Given the description of an element on the screen output the (x, y) to click on. 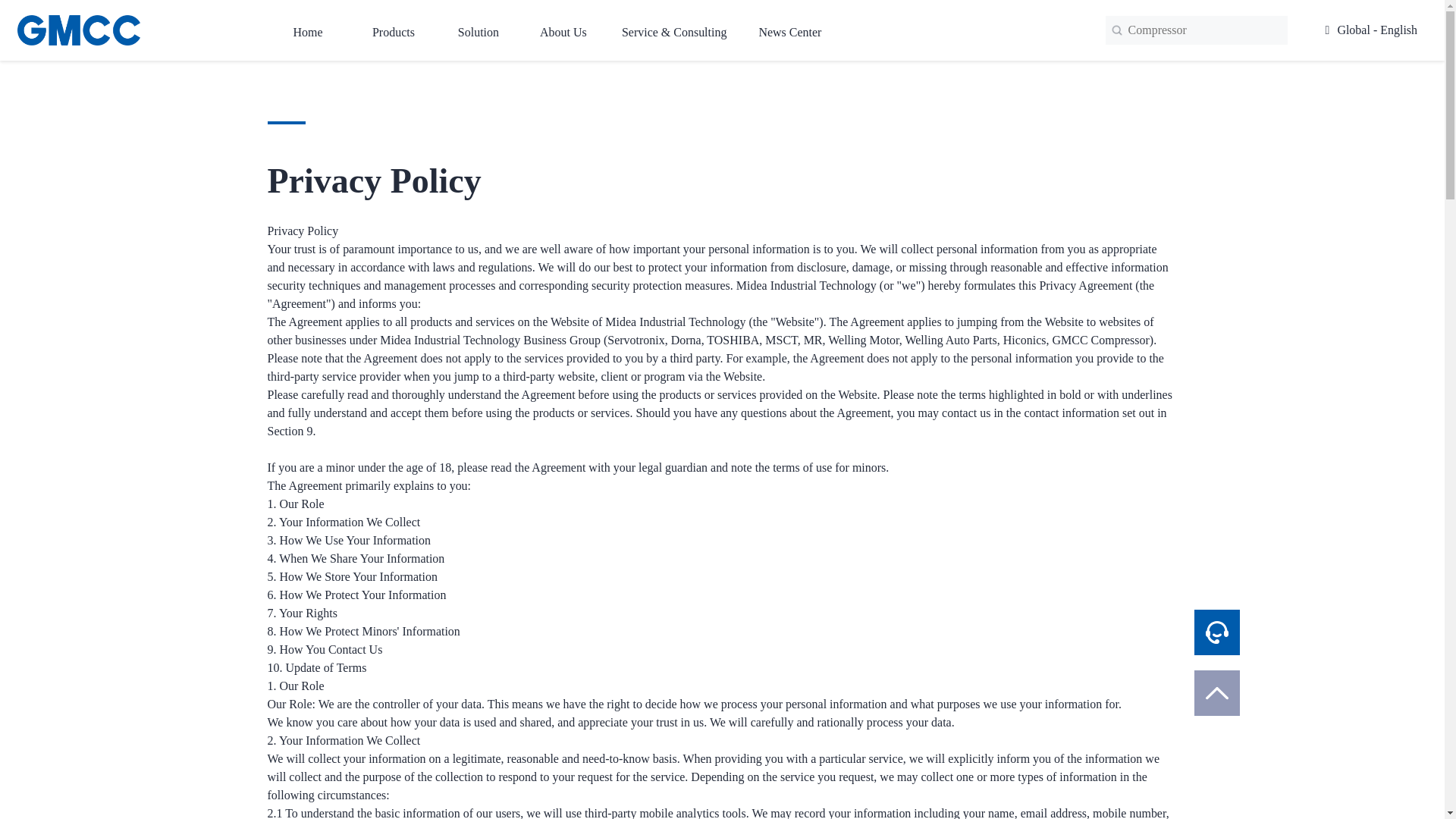
Home (307, 30)
